Given the description of an element on the screen output the (x, y) to click on. 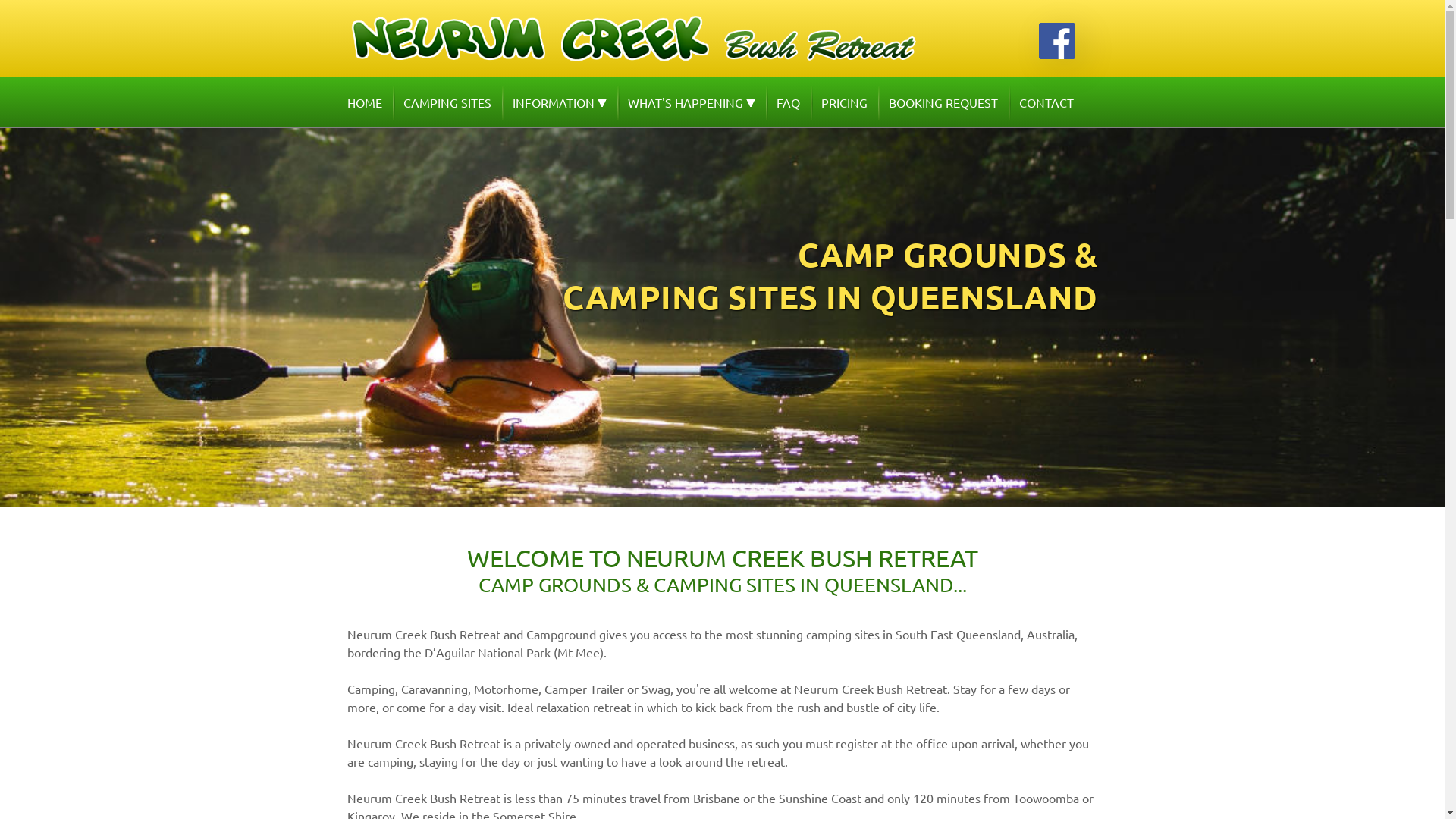
CAMPING SITES Element type: text (447, 101)
INFORMATION Element type: text (559, 101)
HOME Element type: text (369, 101)
WHAT'S HAPPENING Element type: text (691, 101)
PRICING Element type: text (843, 101)
FAQ Element type: text (788, 101)
CONTACT Element type: text (1046, 101)
BOOKING REQUEST Element type: text (943, 101)
